Given the description of an element on the screen output the (x, y) to click on. 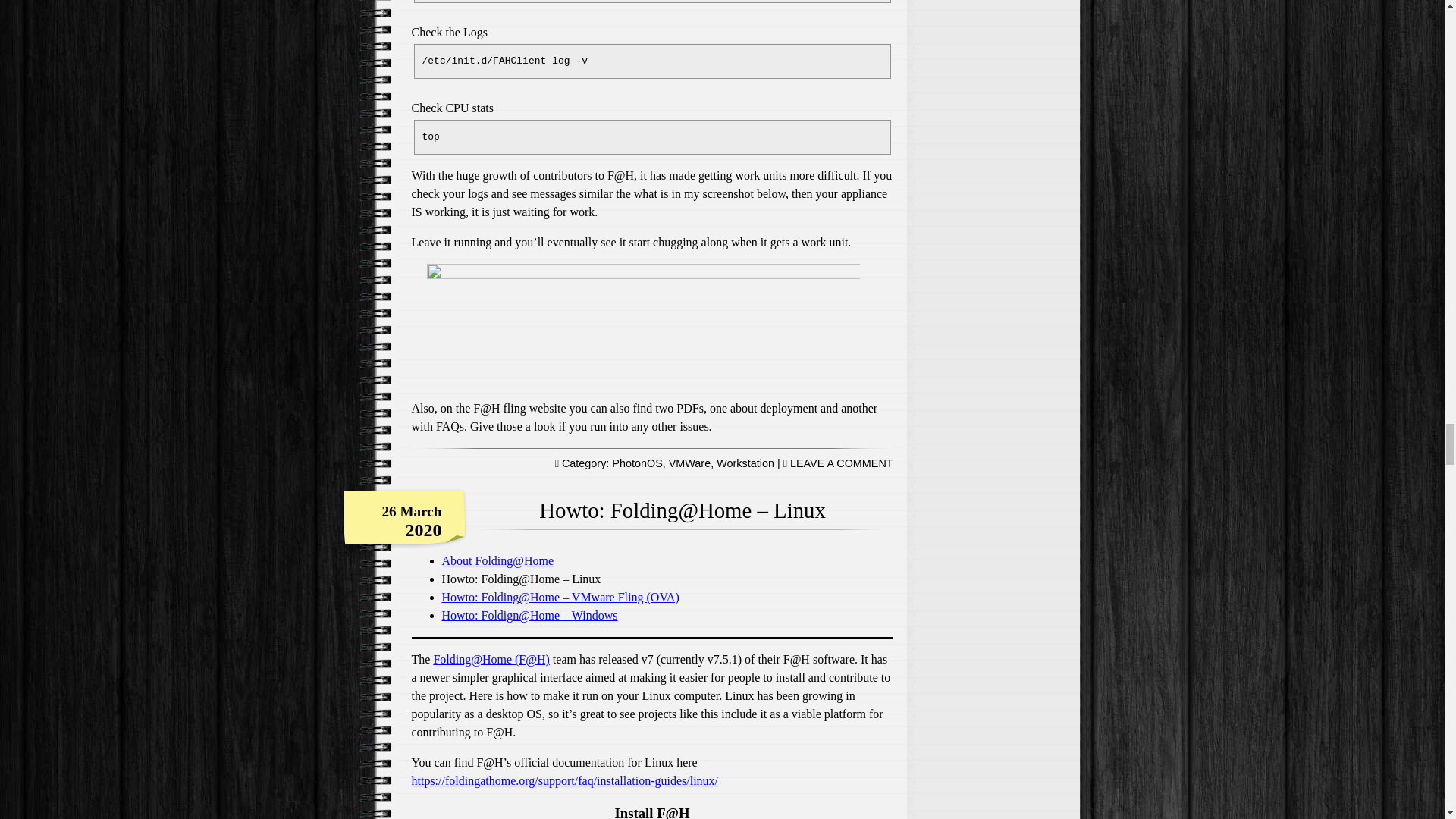
PhotonOS (636, 463)
LEAVE A COMMENT (841, 463)
VMWare (689, 463)
Workstation (745, 463)
